Given the description of an element on the screen output the (x, y) to click on. 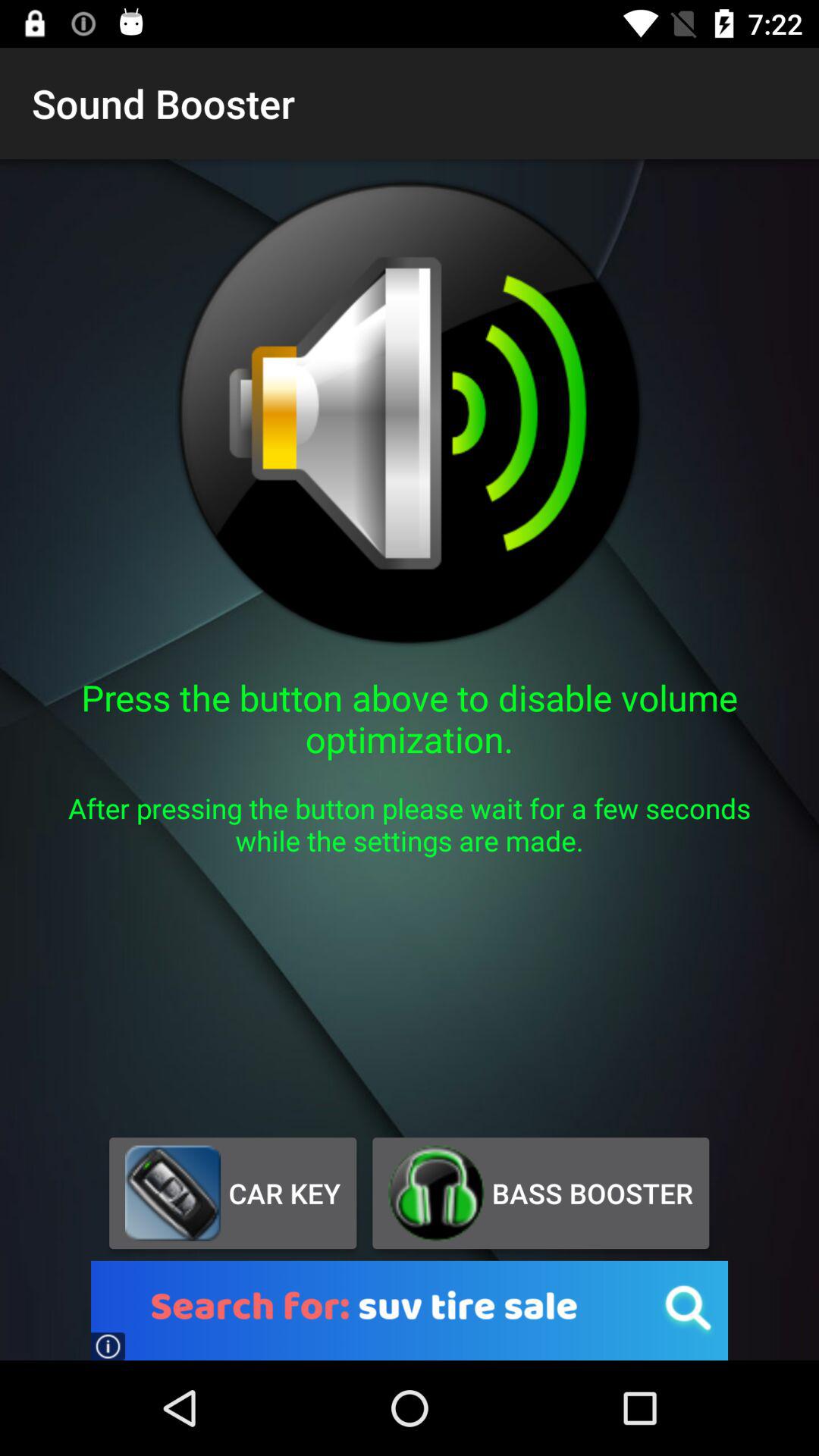
swipe until car key icon (232, 1192)
